Given the description of an element on the screen output the (x, y) to click on. 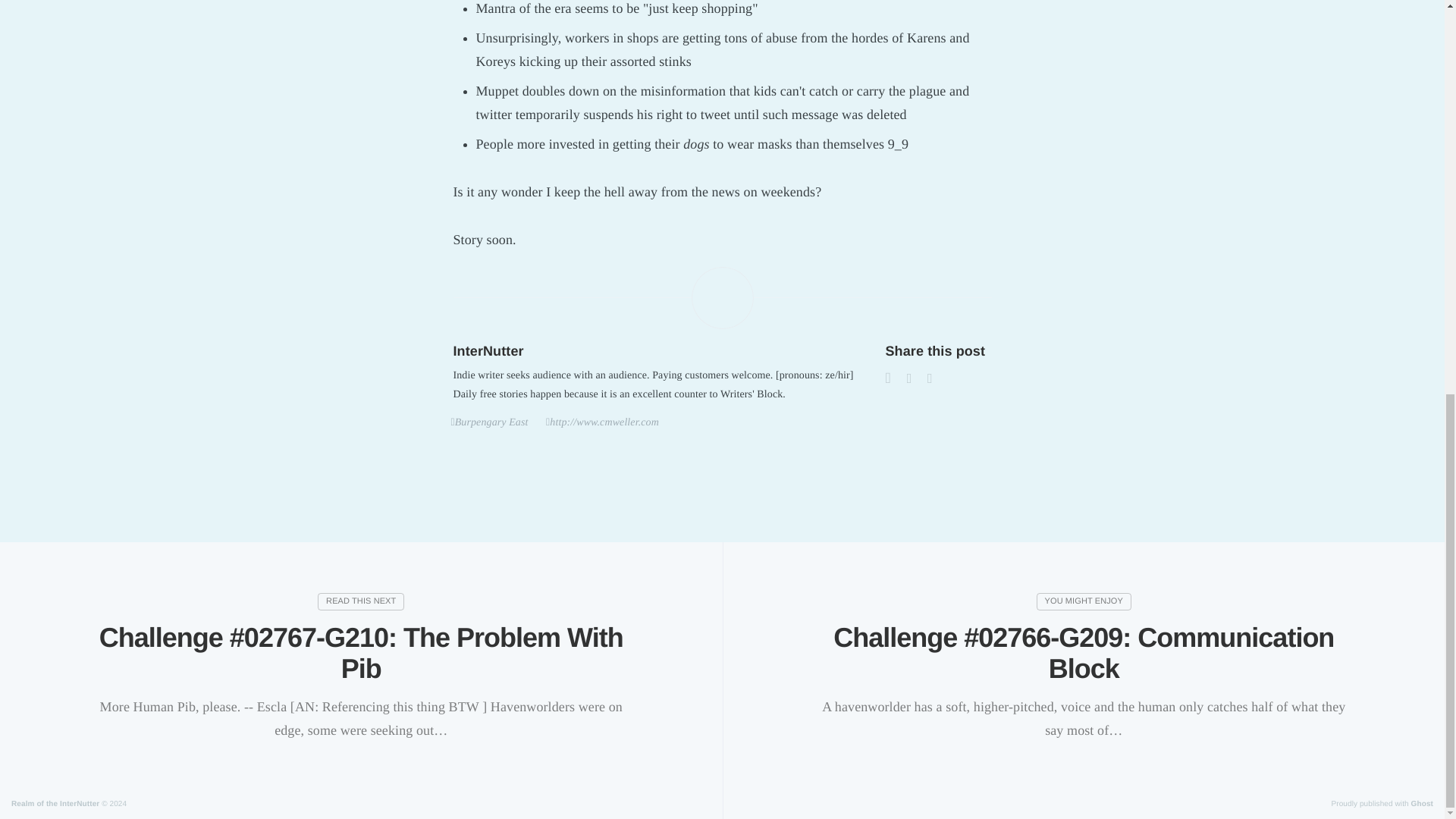
InterNutter (488, 350)
